Given the description of an element on the screen output the (x, y) to click on. 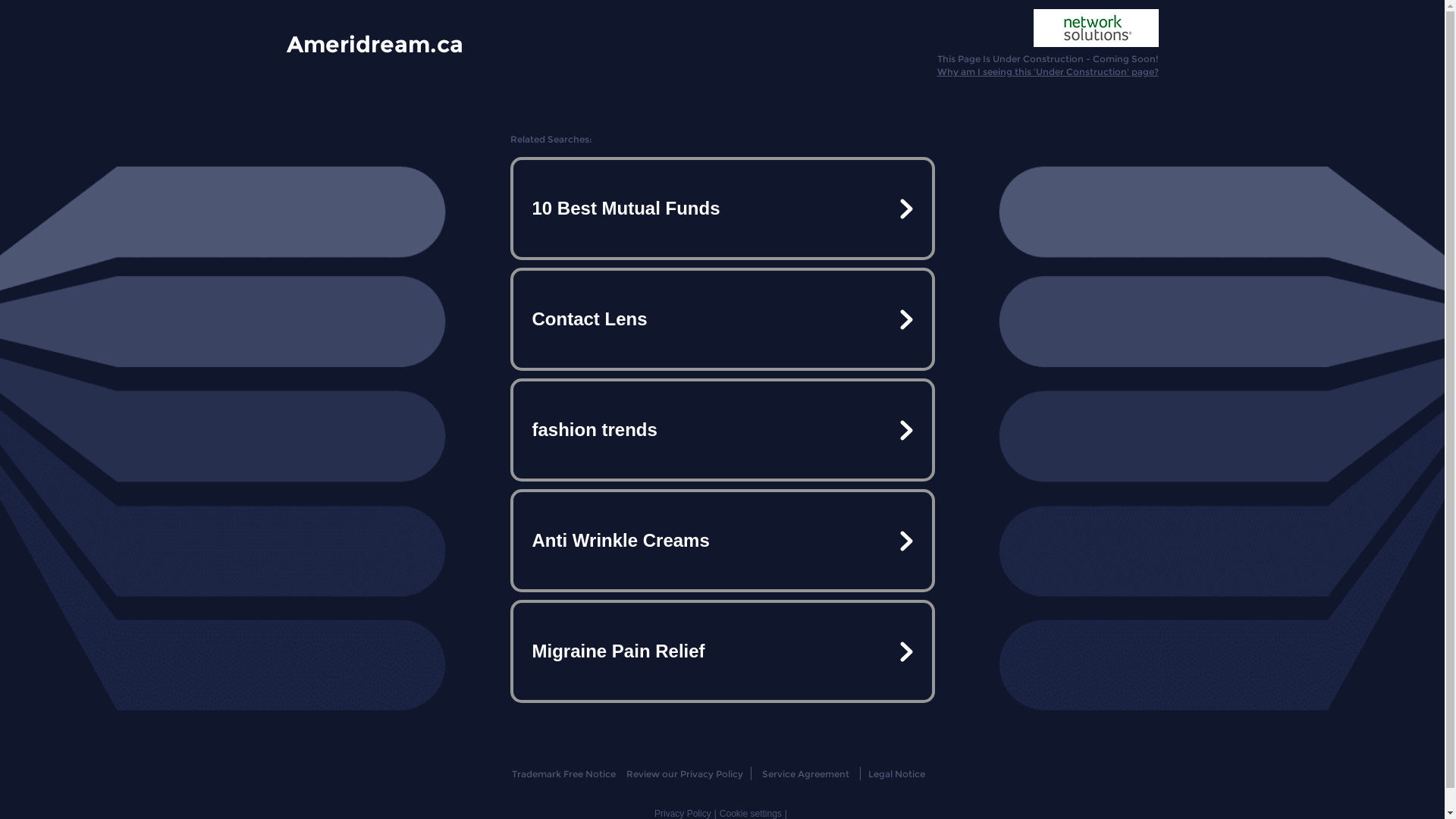
Migraine Pain Relief Element type: text (721, 650)
fashion trends Element type: text (721, 429)
Review our Privacy Policy Element type: text (684, 773)
10 Best Mutual Funds Element type: text (721, 208)
Trademark Free Notice Element type: text (563, 773)
Service Agreement Element type: text (805, 773)
Ameridream.ca Element type: text (374, 43)
Legal Notice Element type: text (896, 773)
Anti Wrinkle Creams Element type: text (721, 540)
Contact Lens Element type: text (721, 318)
Why am I seeing this 'Under Construction' page? Element type: text (1047, 71)
